Given the description of an element on the screen output the (x, y) to click on. 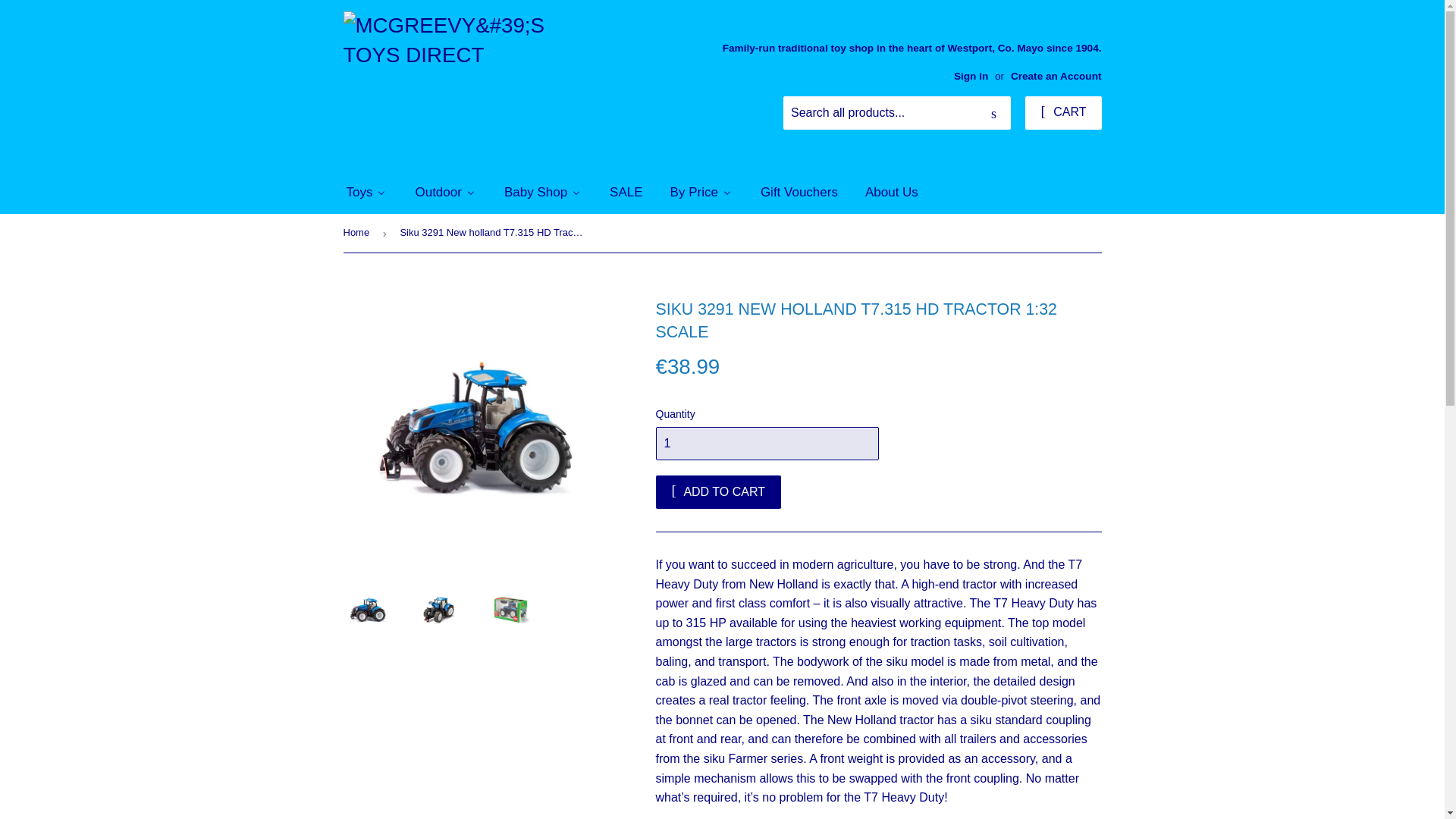
Search (993, 113)
Sign in (970, 75)
CART (1062, 112)
1 (766, 443)
Create an Account (1056, 75)
